Given the description of an element on the screen output the (x, y) to click on. 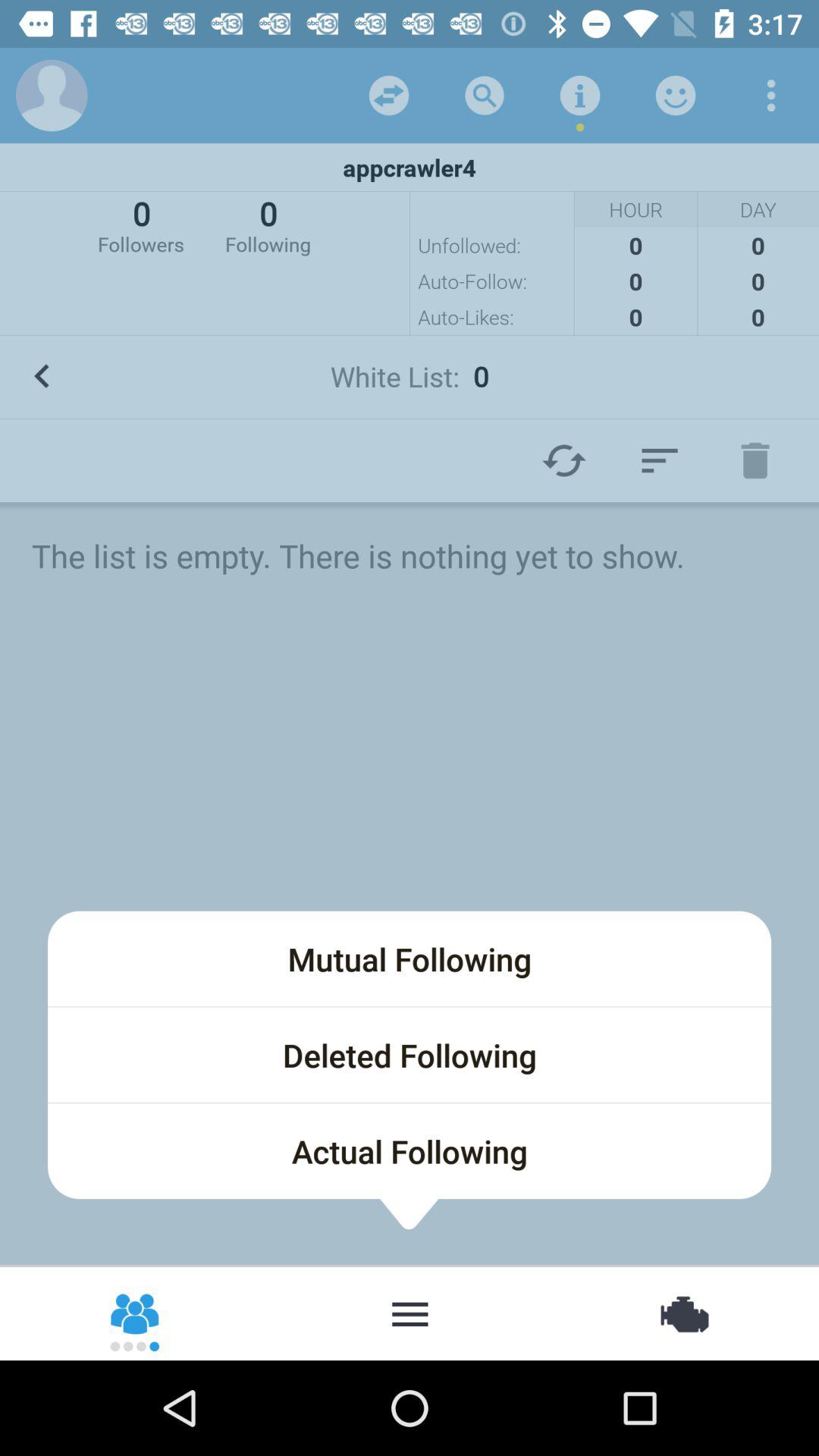
flip to 0
following (268, 224)
